Given the description of an element on the screen output the (x, y) to click on. 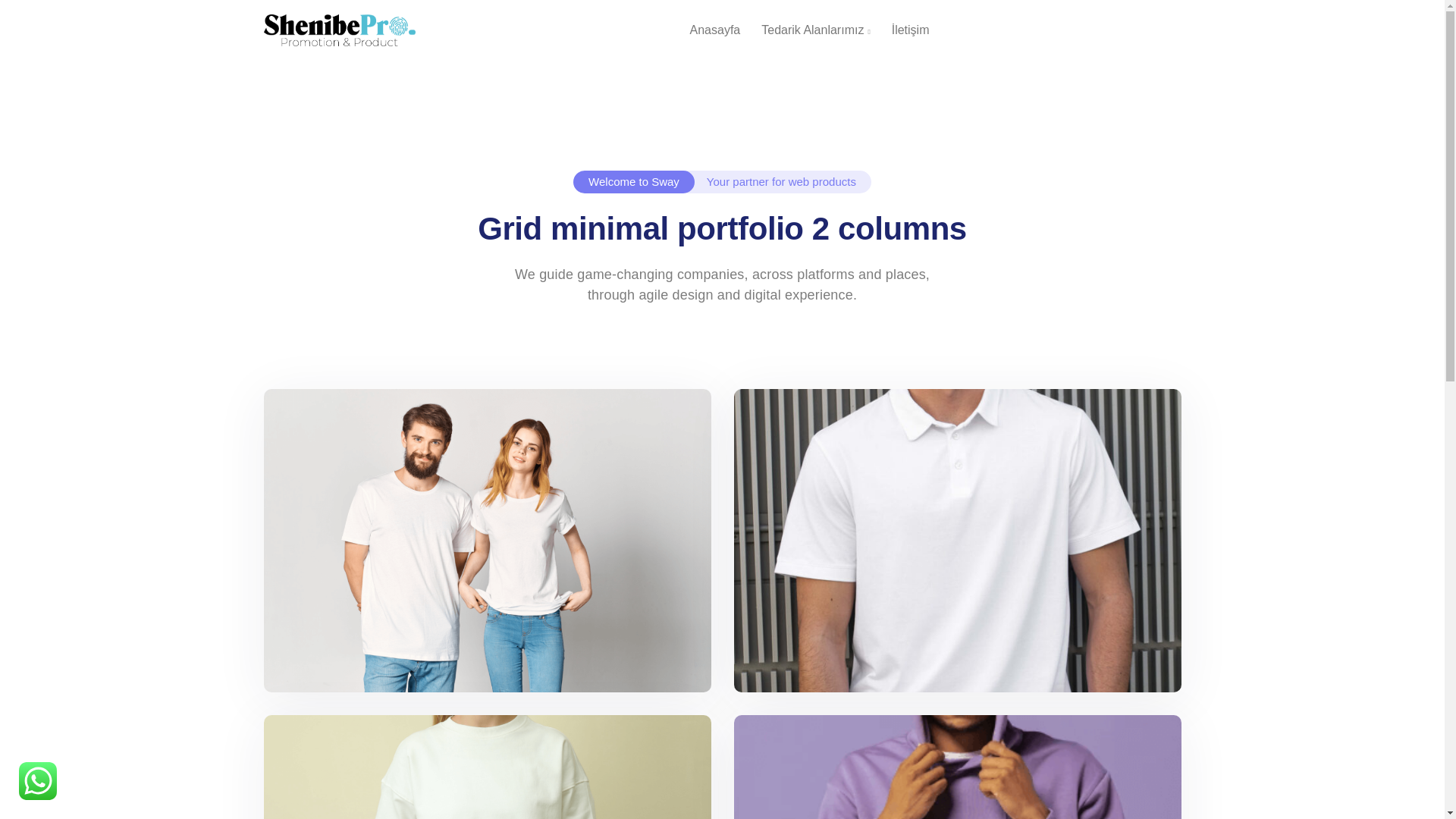
Anasayfa (715, 30)
Hoodie (956, 766)
Sweatshirt (487, 766)
